Given the description of an element on the screen output the (x, y) to click on. 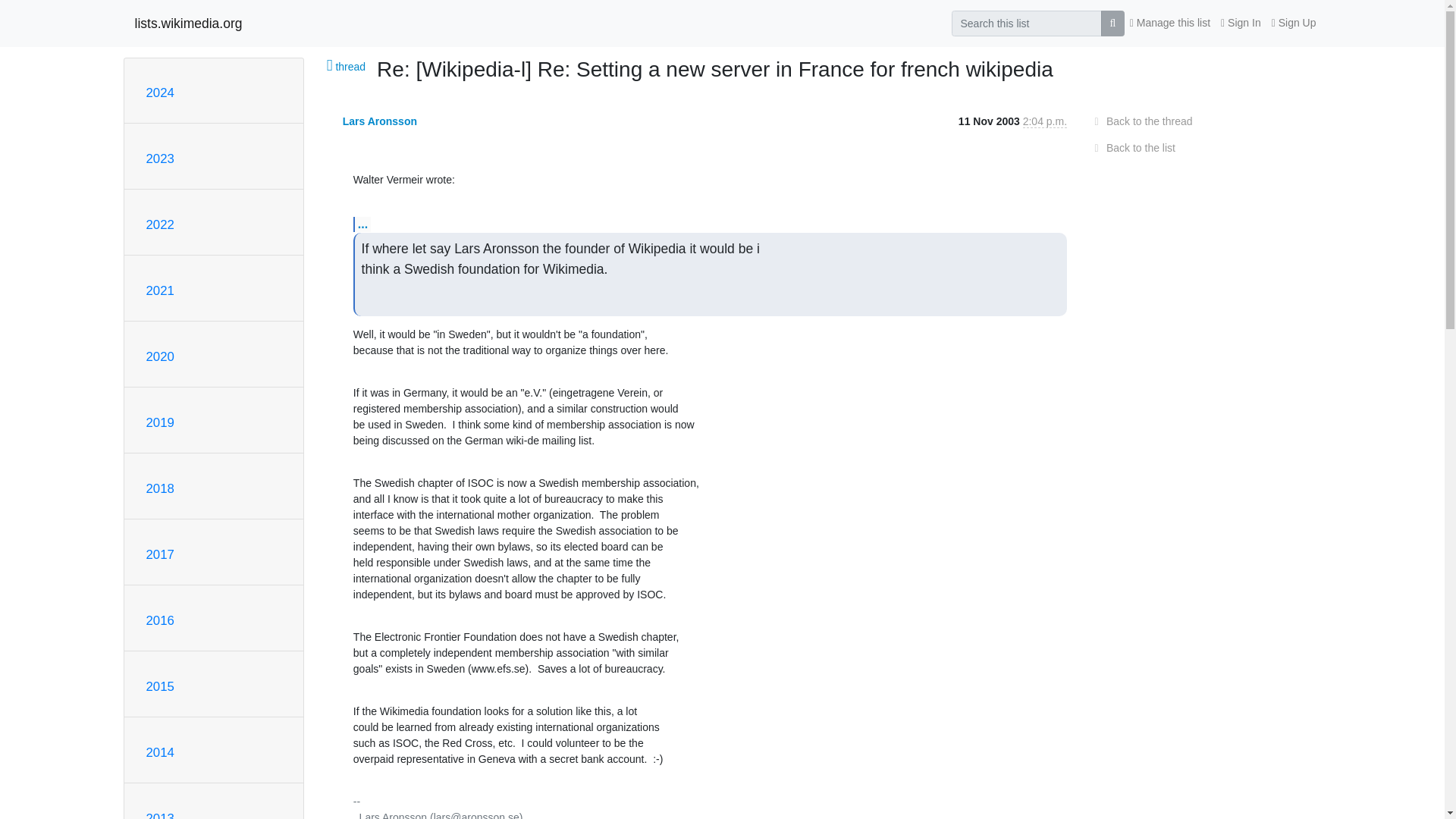
Sender's time: Nov. 11, 2003, 3:04 p.m. (1045, 121)
See the profile for Lars Aronsson (379, 121)
Manage this list (1169, 22)
Sign Up (1294, 22)
2024 (159, 92)
2023 (159, 158)
lists.wikimedia.org (189, 22)
2022 (159, 224)
Sign In (1240, 22)
